Given the description of an element on the screen output the (x, y) to click on. 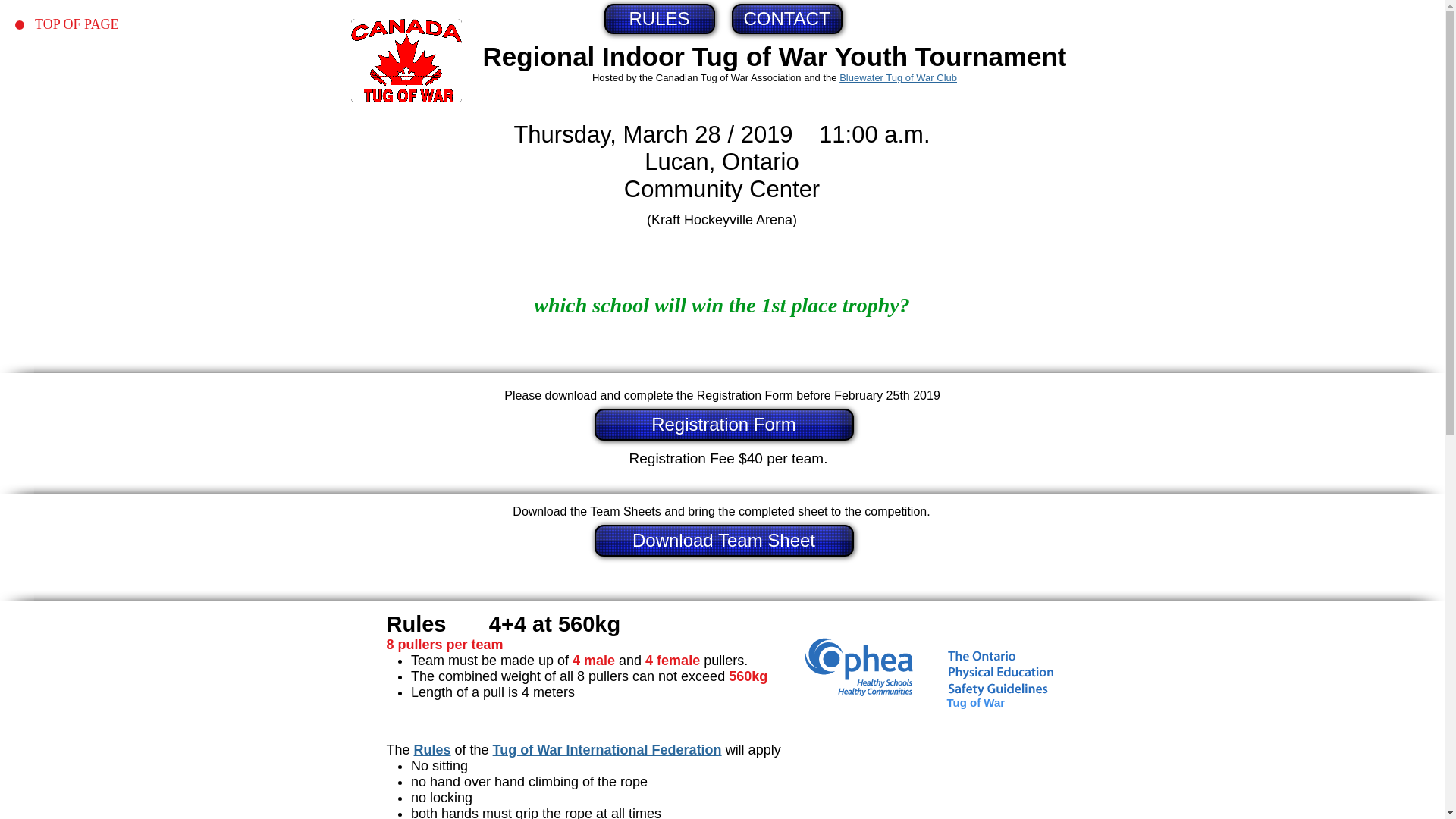
RULES (90, 47)
RULES (659, 19)
Download Team Sheet (723, 540)
VIDEO (90, 94)
Registration Form (723, 424)
FOOTWEAR (90, 70)
Tug of War International Federation (607, 749)
Rules (432, 749)
Additional Notes (90, 117)
Bluewater Tug of War Club (898, 77)
